Given the description of an element on the screen output the (x, y) to click on. 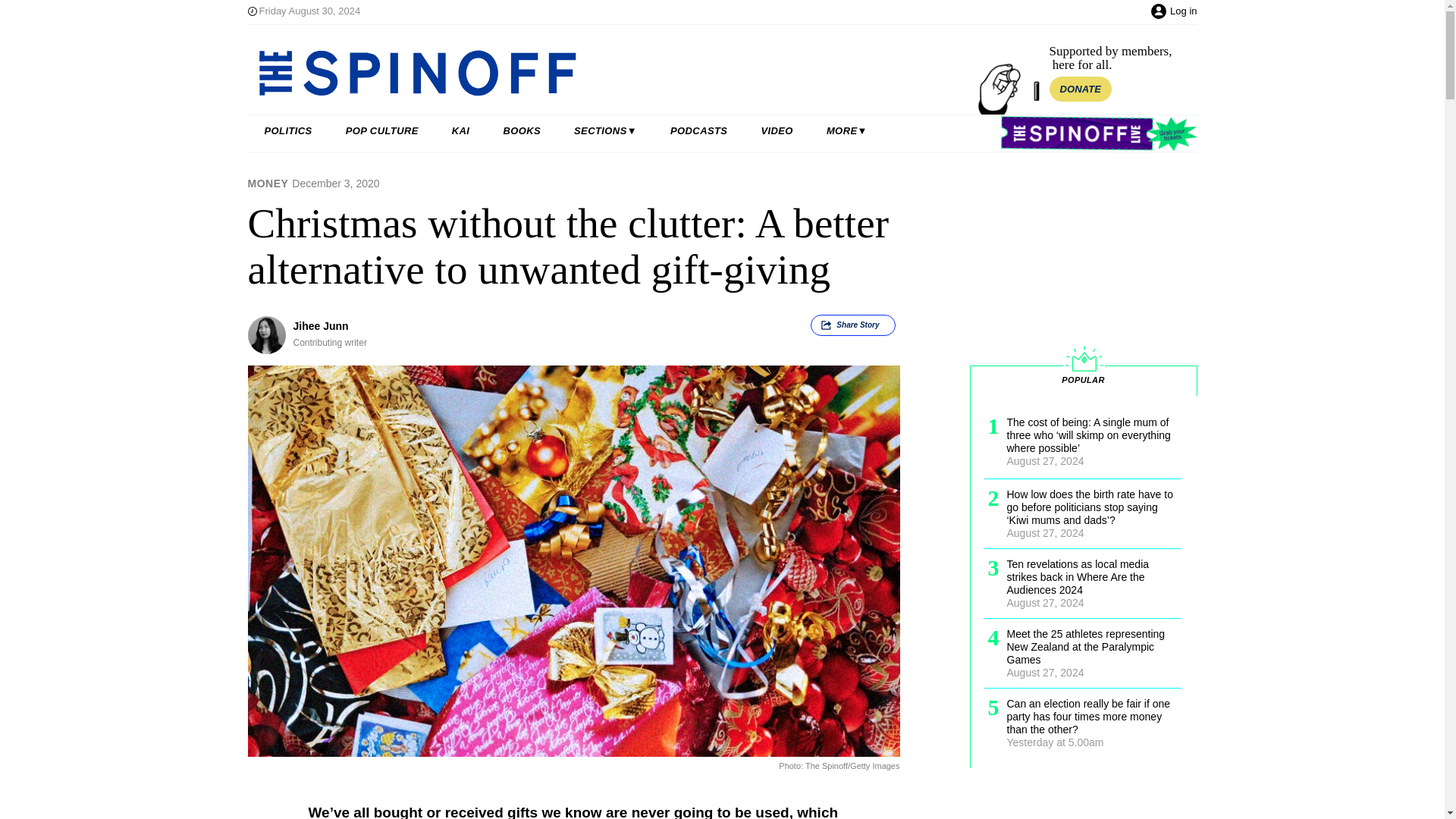
DONATE (1080, 88)
KAI (460, 131)
VIDEO (776, 131)
BOOKS (521, 131)
view all posts by Jihee Junn (319, 326)
The Spinoff (608, 72)
PODCASTS (698, 131)
MORE (846, 131)
Log in (1183, 11)
POP CULTURE (382, 131)
